Given the description of an element on the screen output the (x, y) to click on. 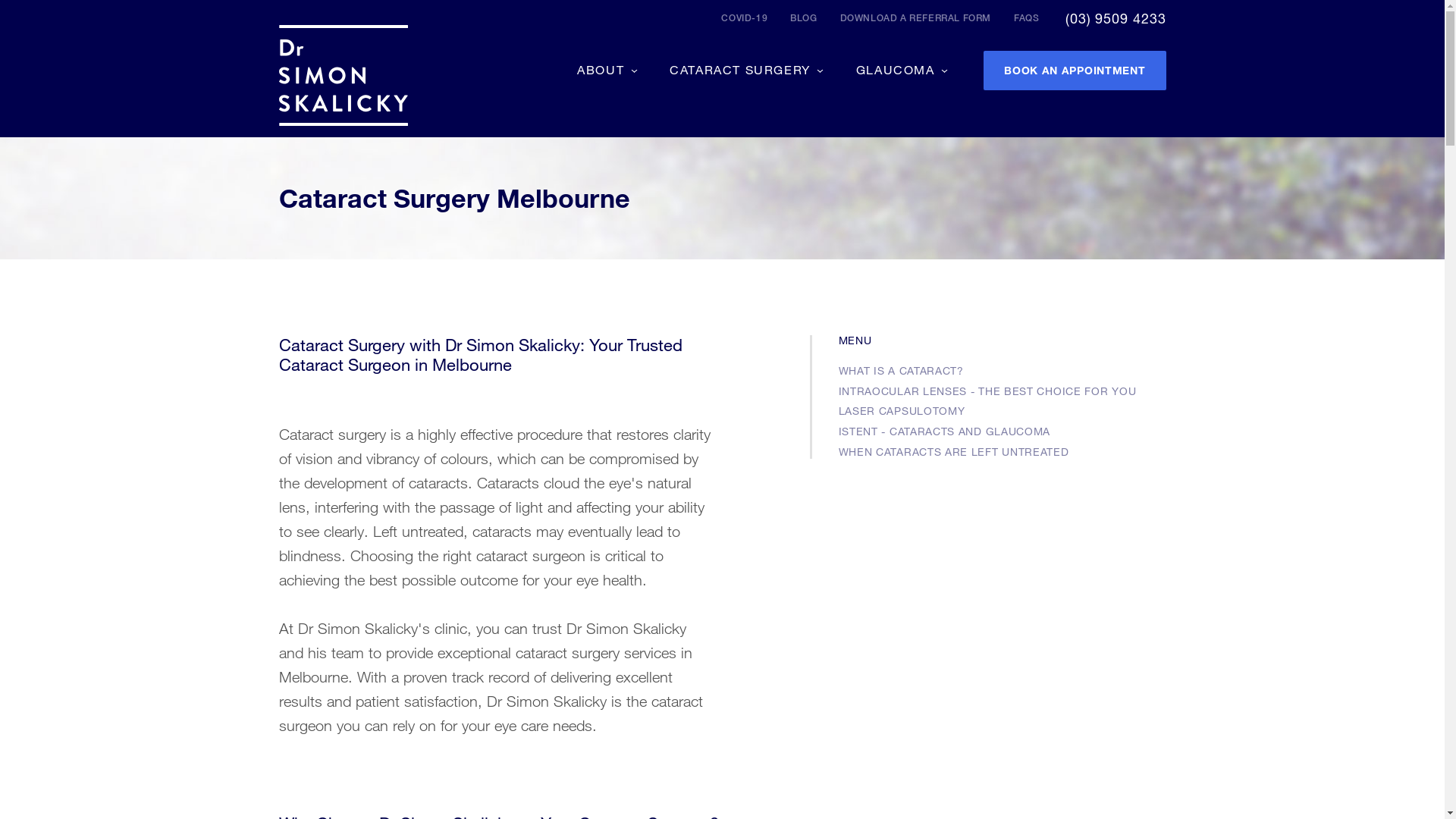
ABOUT Element type: text (606, 69)
COVID-19 Element type: text (744, 17)
DOWNLOAD A REFERRAL FORM Element type: text (915, 17)
WHEN CATARACTS ARE LEFT UNTREATED Element type: text (953, 451)
GLAUCOMA Element type: text (901, 69)
FAQS Element type: text (1025, 17)
BOOK AN APPOINTMENT Element type: text (1074, 70)
WHAT IS A CATARACT? Element type: text (900, 370)
BLOG Element type: text (803, 17)
Dr Simon Skalicky Element type: hover (343, 75)
ISTENT - CATARACTS AND GLAUCOMA Element type: text (944, 430)
LASER CAPSULOTOMY Element type: text (901, 410)
(03) 9509 4233 Element type: text (1115, 18)
CATARACT SURGERY Element type: text (745, 69)
INTRAOCULAR LENSES - THE BEST CHOICE FOR YOU Element type: text (987, 390)
